Given the description of an element on the screen output the (x, y) to click on. 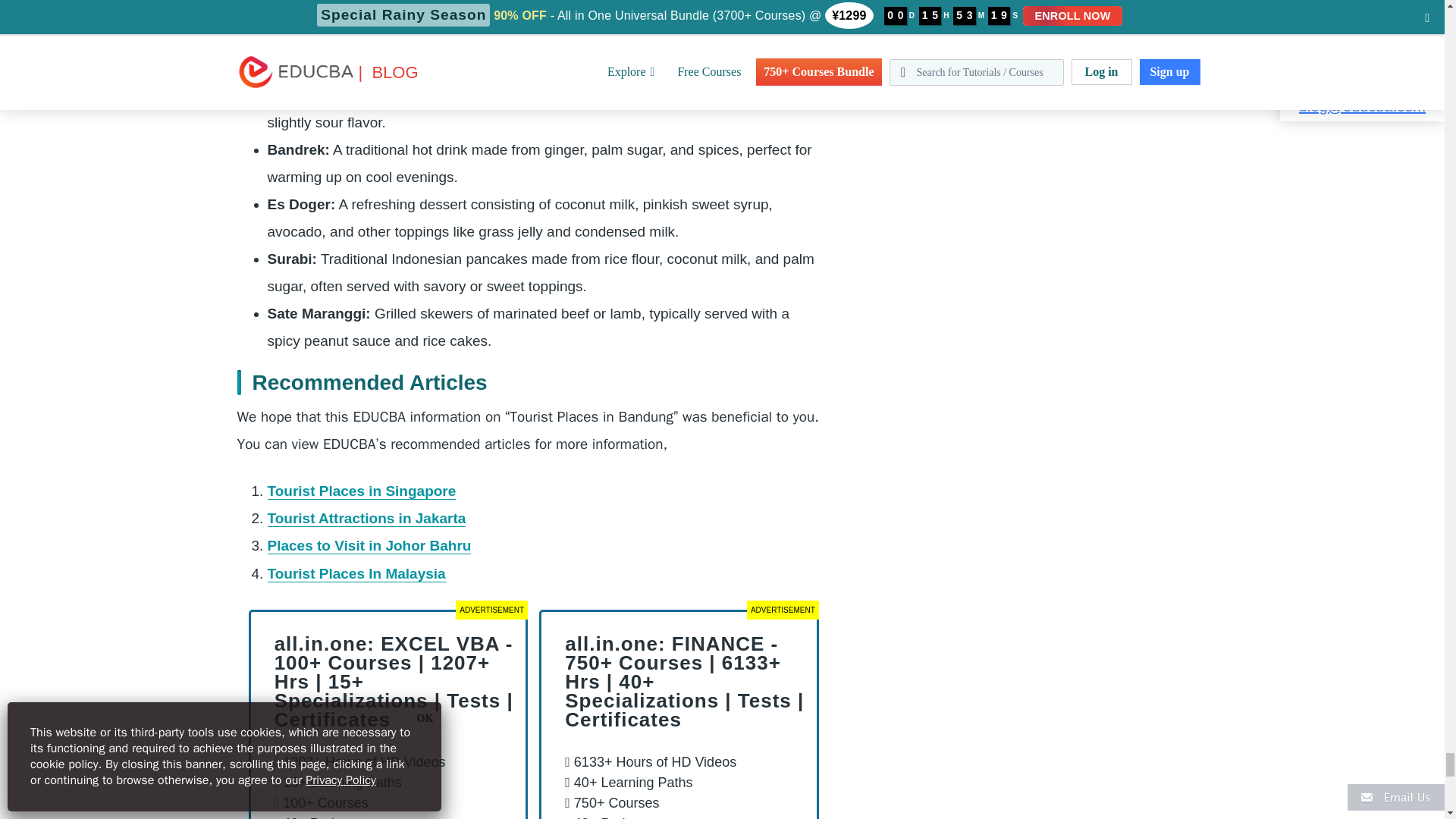
Tourist Places in Singapore (360, 491)
Places to Visit in Johor Bahru (368, 545)
Tourist Attractions in Jakarta (365, 518)
Tourist Places In Malaysia (355, 573)
